Given the description of an element on the screen output the (x, y) to click on. 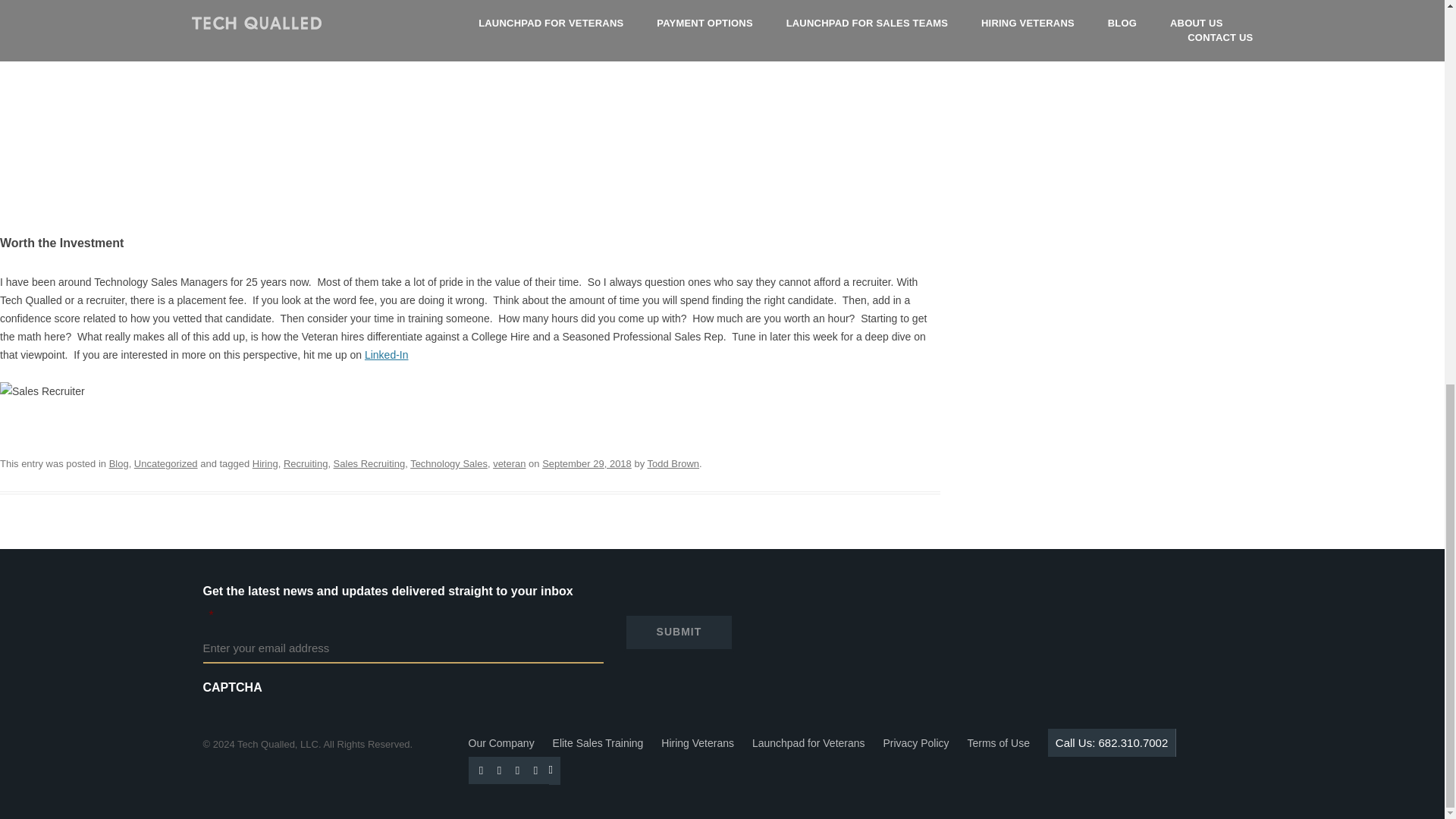
Uncategorized (165, 463)
Technology Sales (448, 463)
Hiring (264, 463)
veteran (509, 463)
8:56 am (586, 463)
Linked-In (387, 354)
Elite Sales Training (598, 743)
LinkedIn (499, 770)
Launchpad for Veterans (808, 743)
Instagram (536, 770)
